Given the description of an element on the screen output the (x, y) to click on. 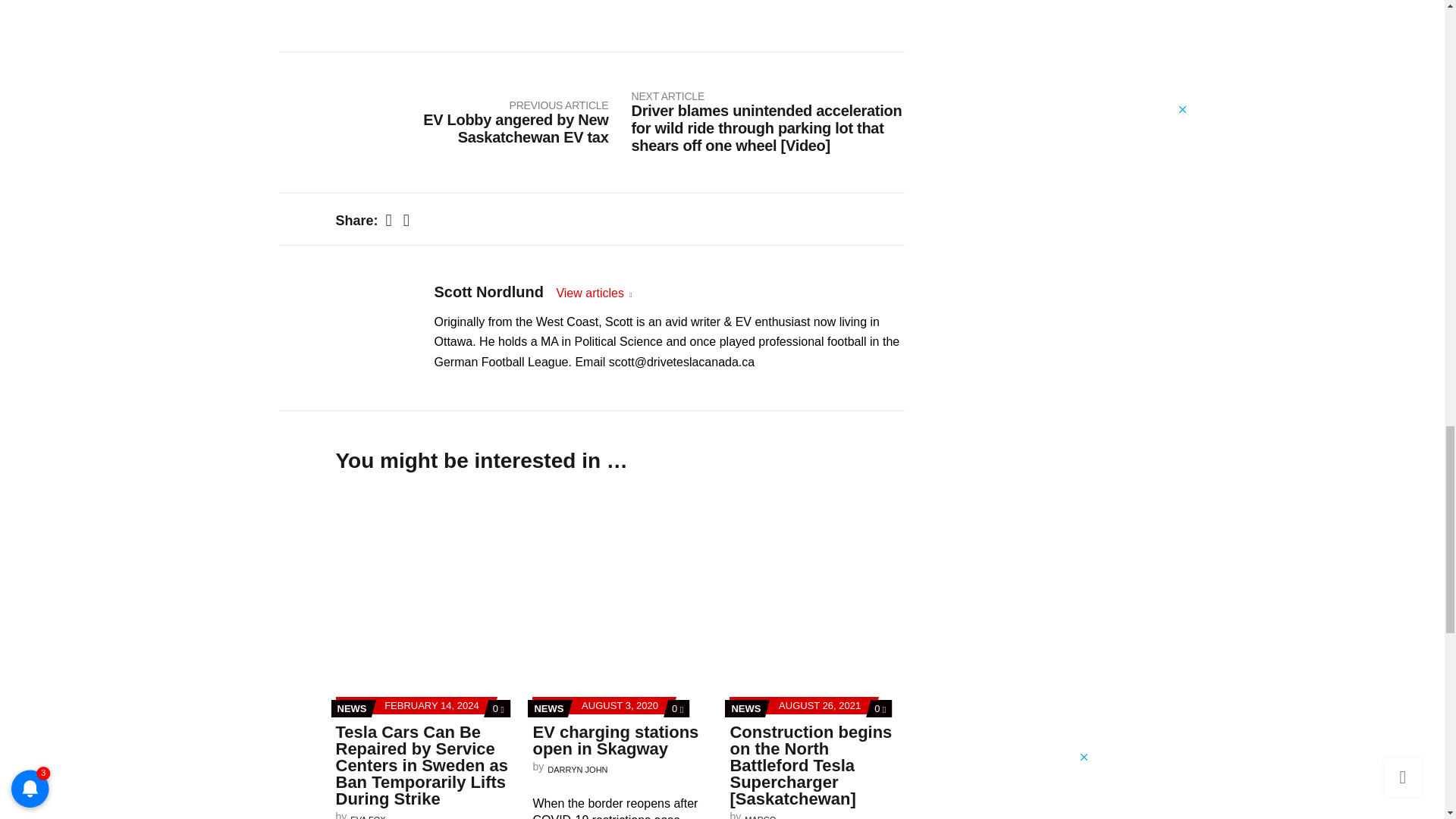
3rd party ad content (1074, 51)
